Given the description of an element on the screen output the (x, y) to click on. 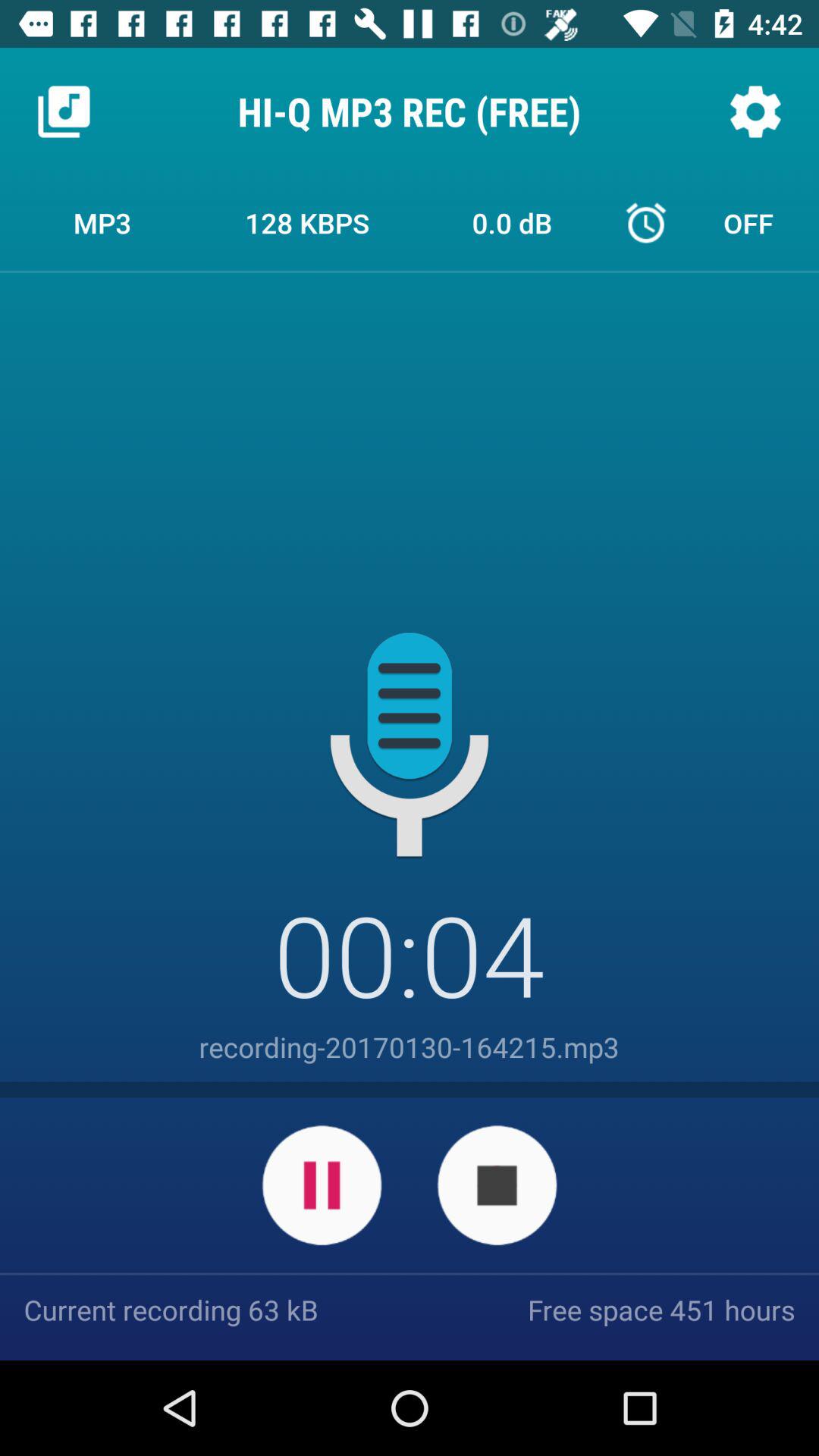
click 0.0 db icon (511, 222)
